Given the description of an element on the screen output the (x, y) to click on. 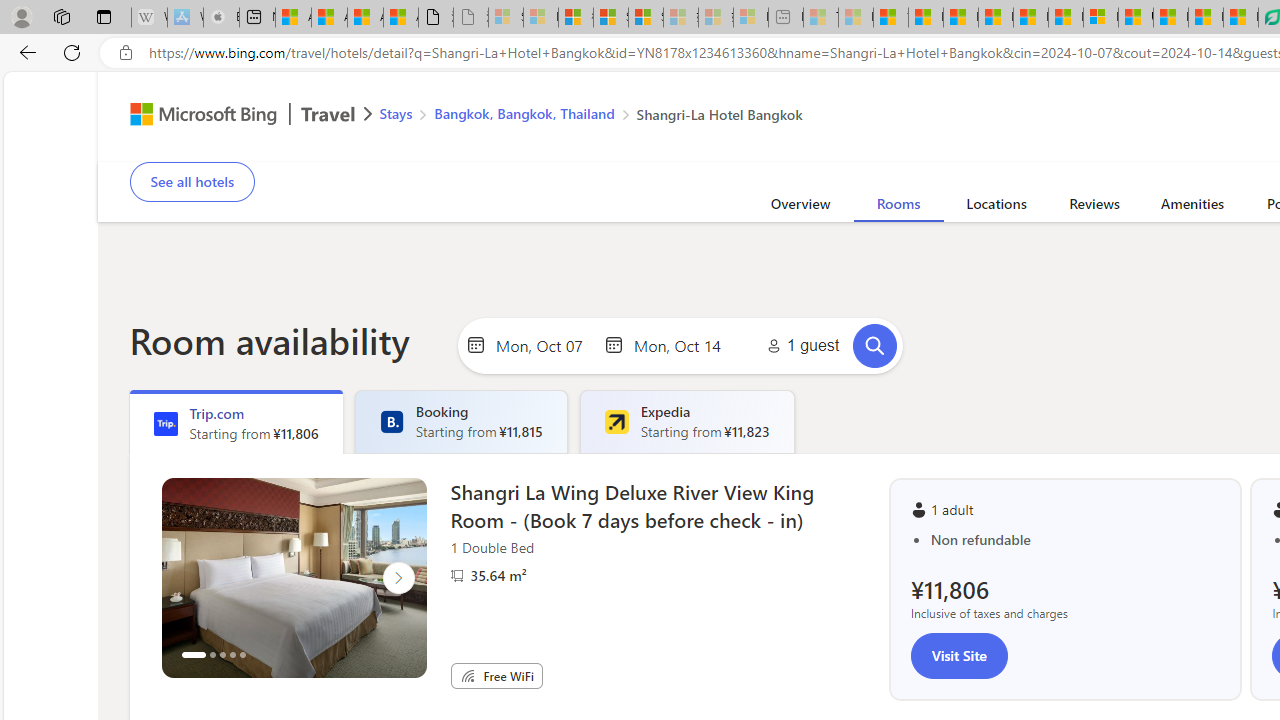
Conference rooms (953, 148)
Visit Site (959, 655)
Microsoft Bing Travel (229, 116)
Microsoft account | Account Checkup - Sleeping (750, 17)
Airport transportation (874, 148)
End date (682, 344)
Reviews (1094, 207)
